Given the description of an element on the screen output the (x, y) to click on. 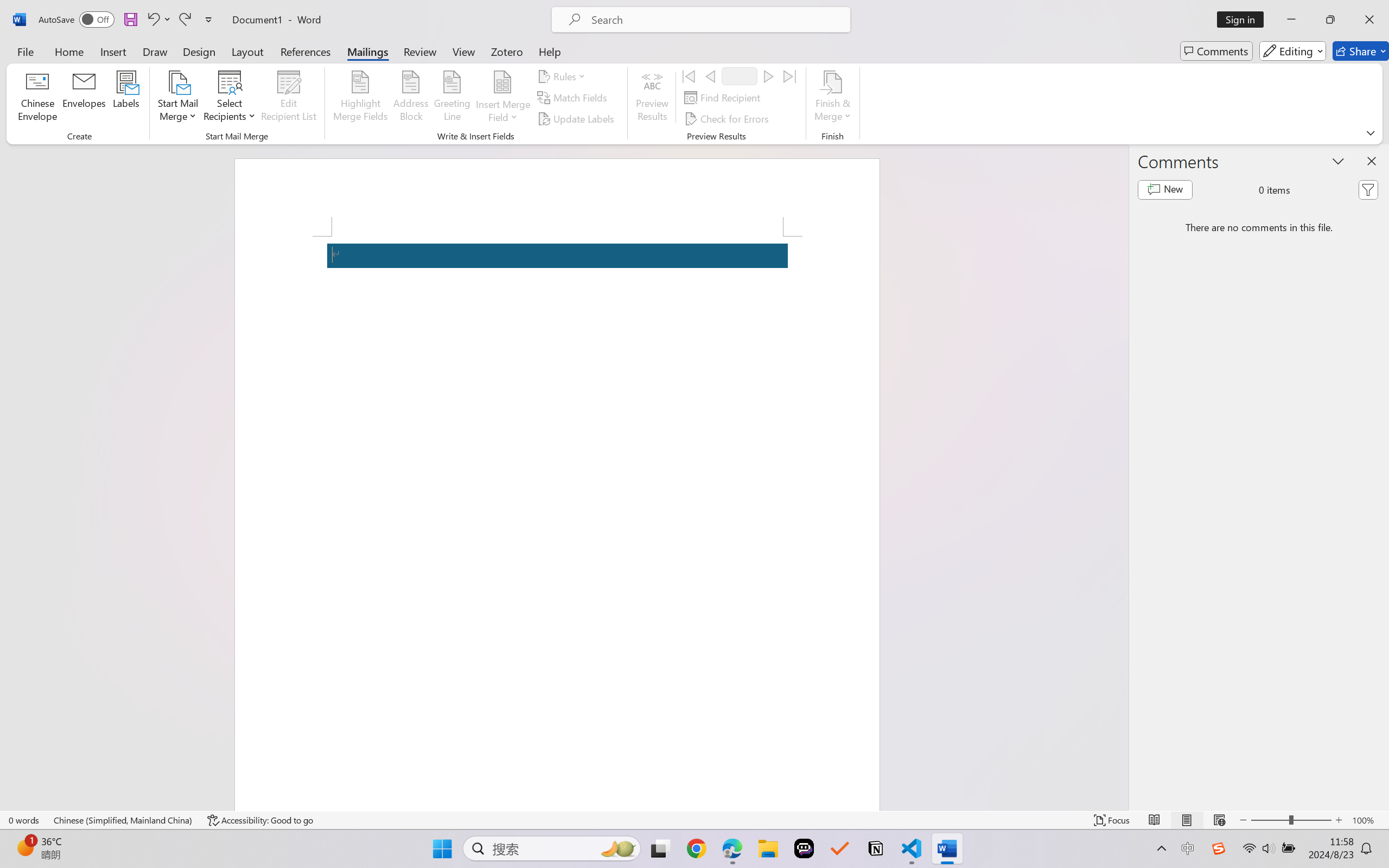
Envelopes... (84, 97)
